Given the description of an element on the screen output the (x, y) to click on. 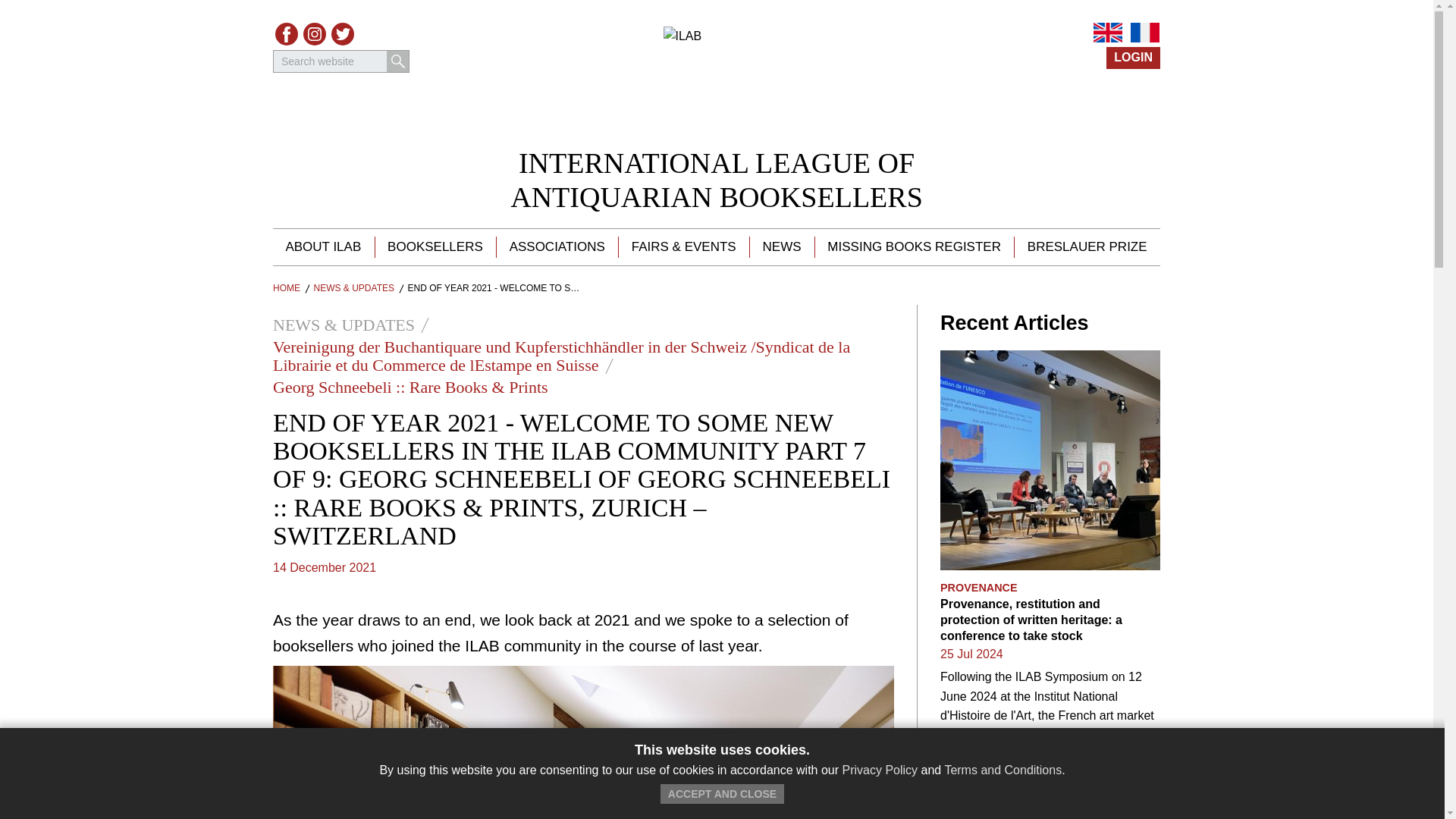
Twitter (342, 33)
EN (1107, 32)
ASSOCIATIONS (556, 246)
See our Instagram feed (314, 33)
SEARCH (398, 60)
BOOKSELLERS (435, 246)
ABOUT ILAB (323, 246)
Facebook (286, 33)
Return to ILAB main site (716, 79)
MISSING BOOKS REGISTER (913, 246)
Terms and Conditions (1002, 769)
Privacy Policy (880, 769)
Instagram (314, 33)
See our Twitter posts (716, 180)
